Given the description of an element on the screen output the (x, y) to click on. 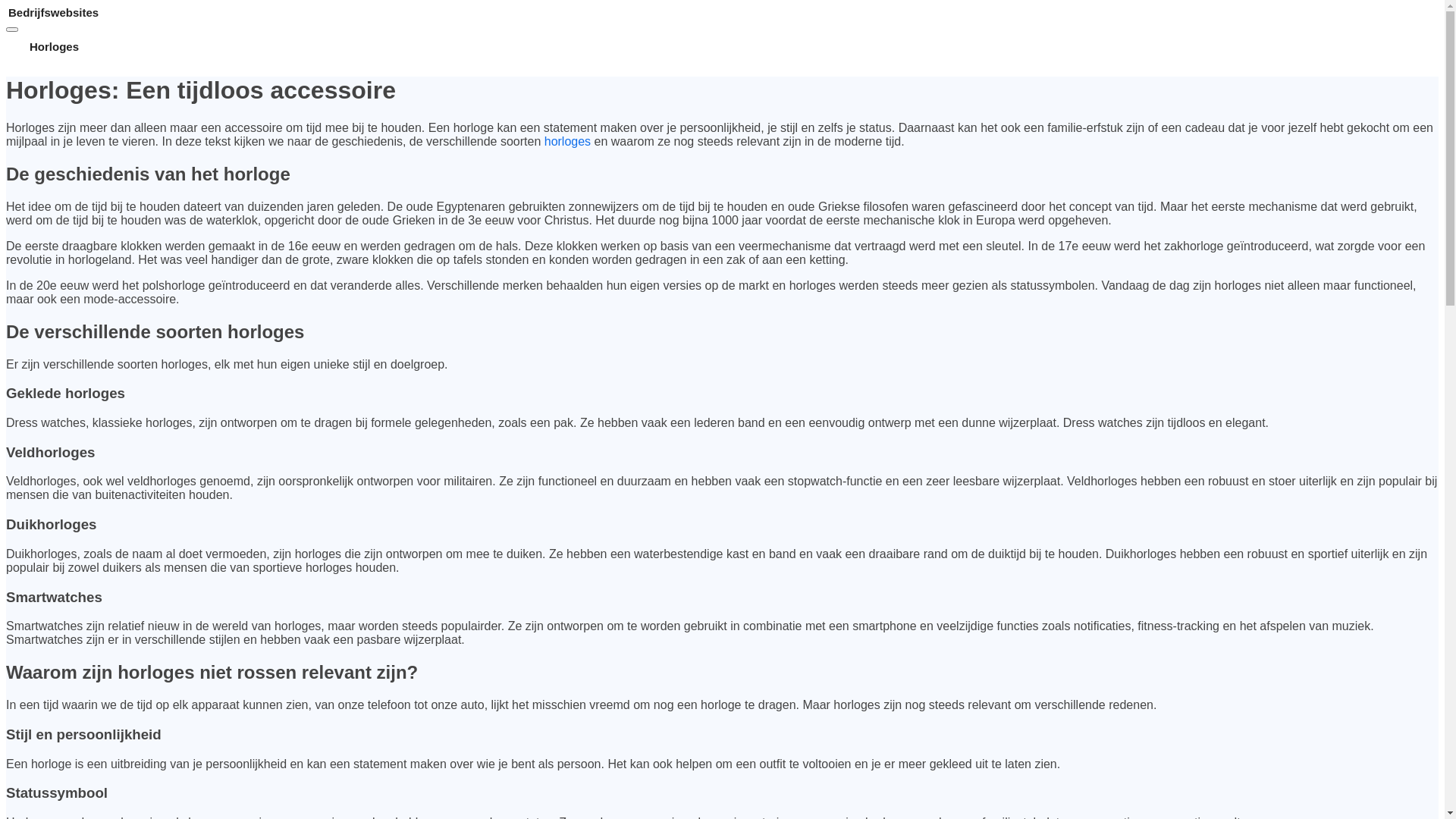
horloges Element type: text (567, 140)
Bedrijfswebsites Element type: text (722, 12)
Horloges Element type: text (54, 46)
